Given the description of an element on the screen output the (x, y) to click on. 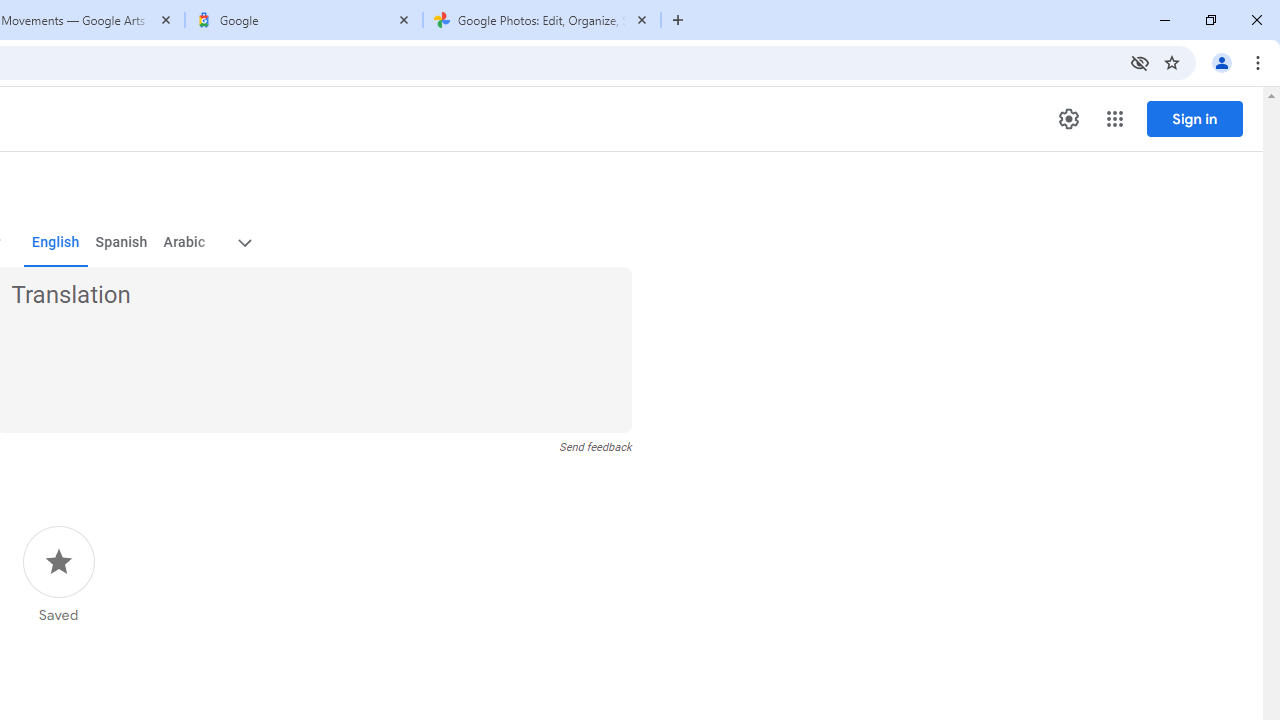
Google (304, 20)
More target languages (244, 242)
